Given the description of an element on the screen output the (x, y) to click on. 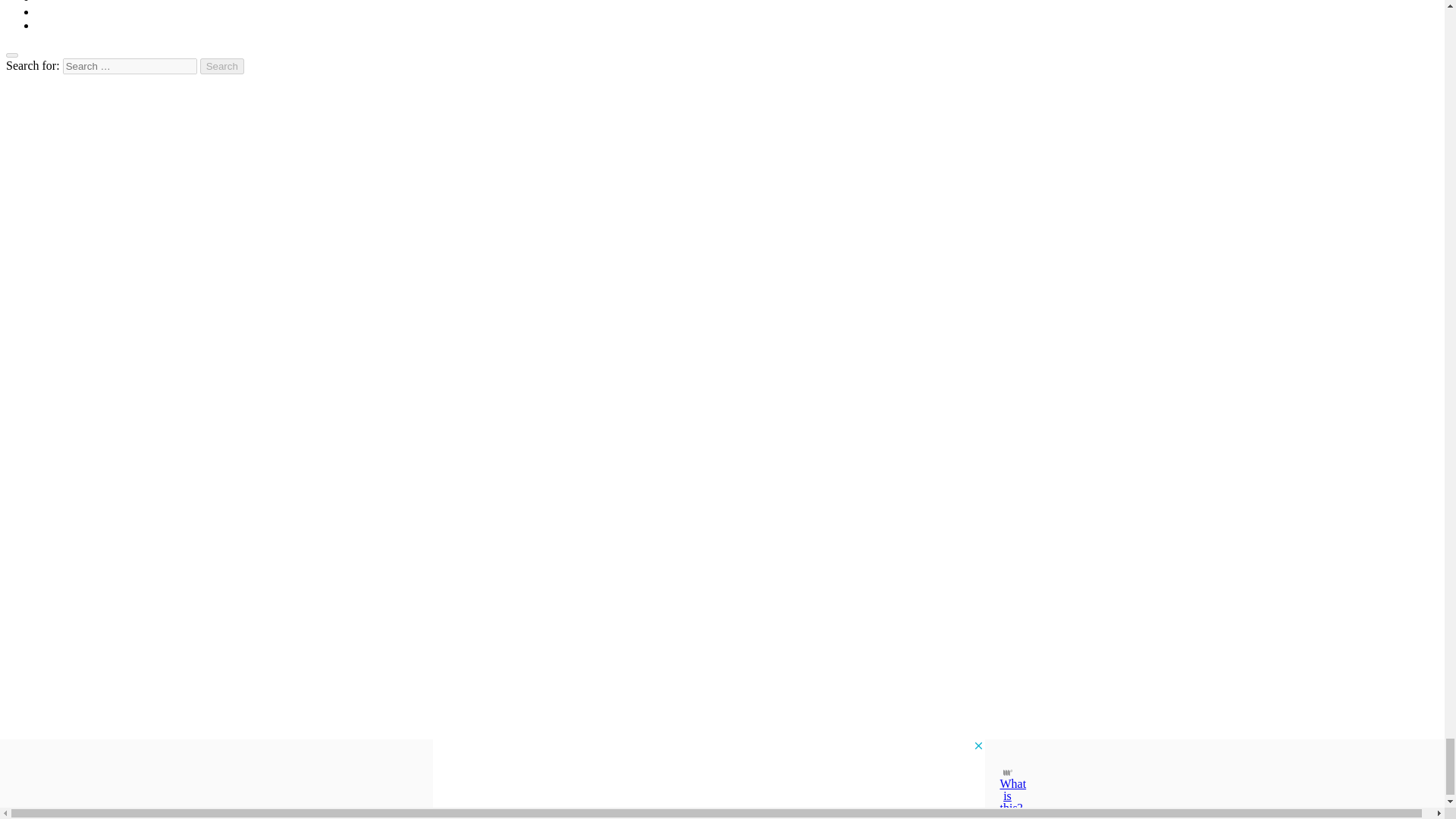
Search (222, 66)
Search (222, 66)
